Given the description of an element on the screen output the (x, y) to click on. 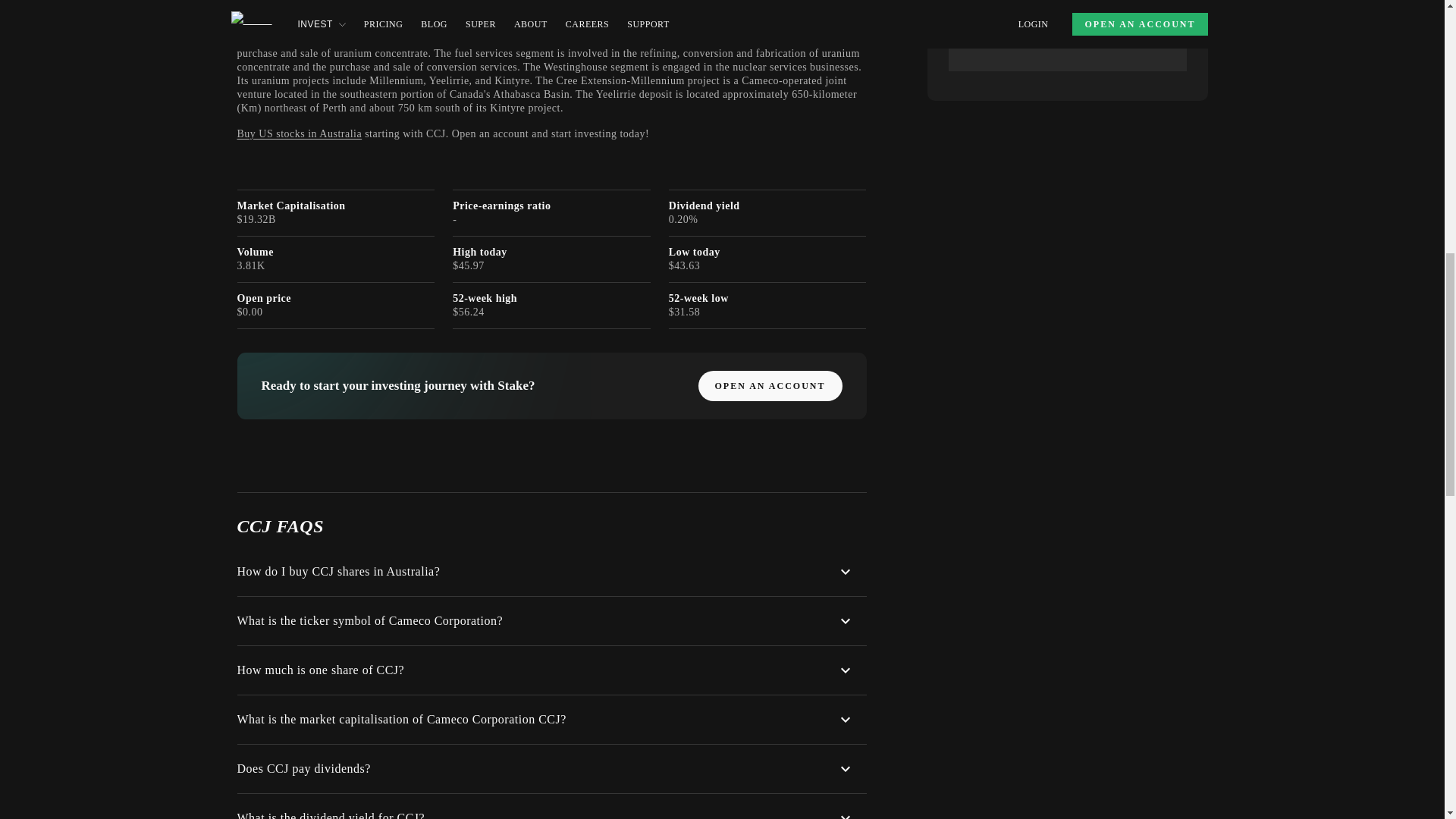
Buy US stocks in Australia (298, 133)
OPEN AN ACCOUNT (769, 386)
